Given the description of an element on the screen output the (x, y) to click on. 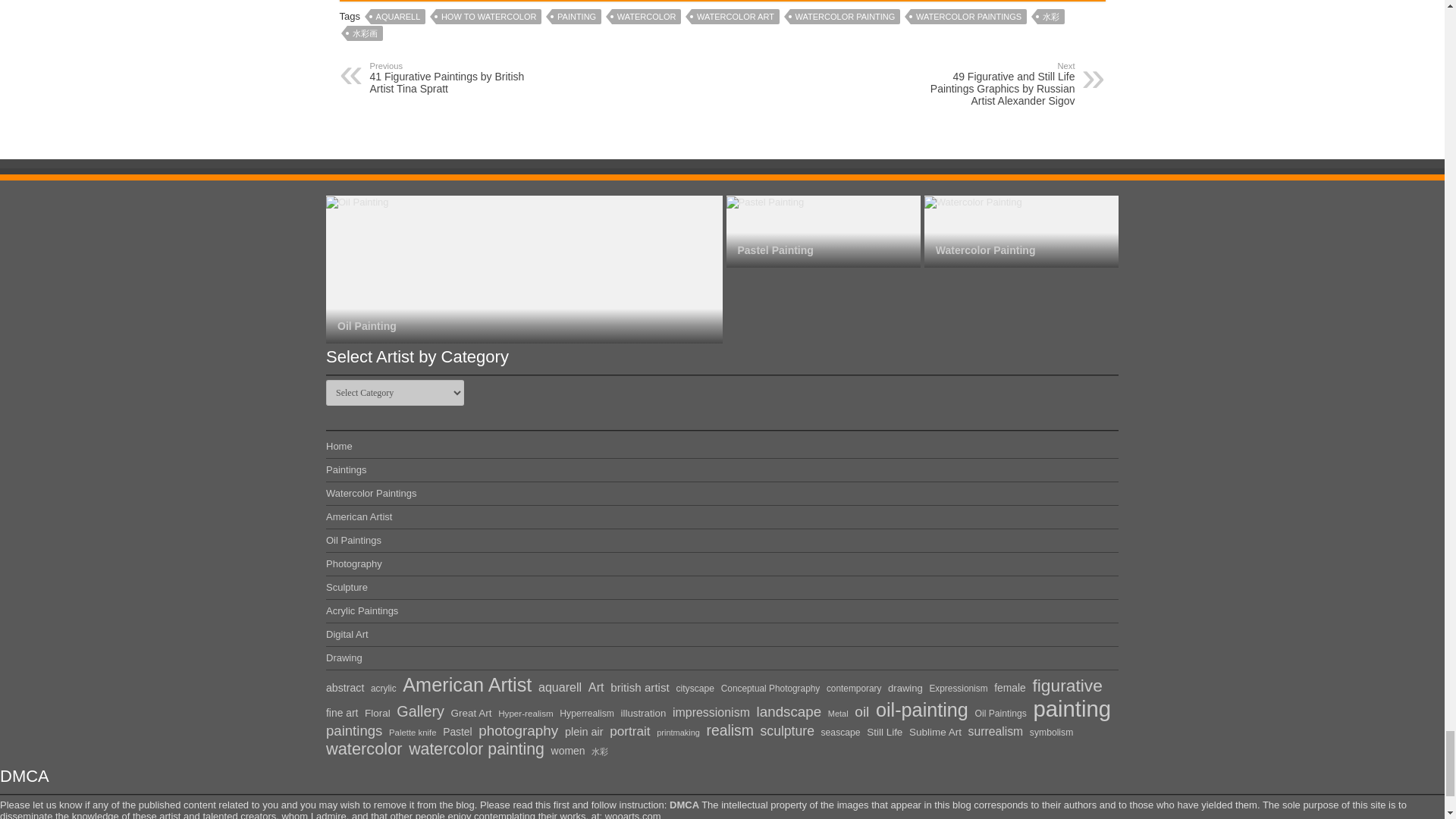
WATERCOLOR PAINTING (845, 16)
PAINTING (576, 16)
HOW TO WATERCOLOR (488, 16)
AQUARELL (398, 16)
WATERCOLOR PAINTINGS (968, 16)
WATERCOLOR (646, 16)
WATERCOLOR ART (734, 16)
